Given the description of an element on the screen output the (x, y) to click on. 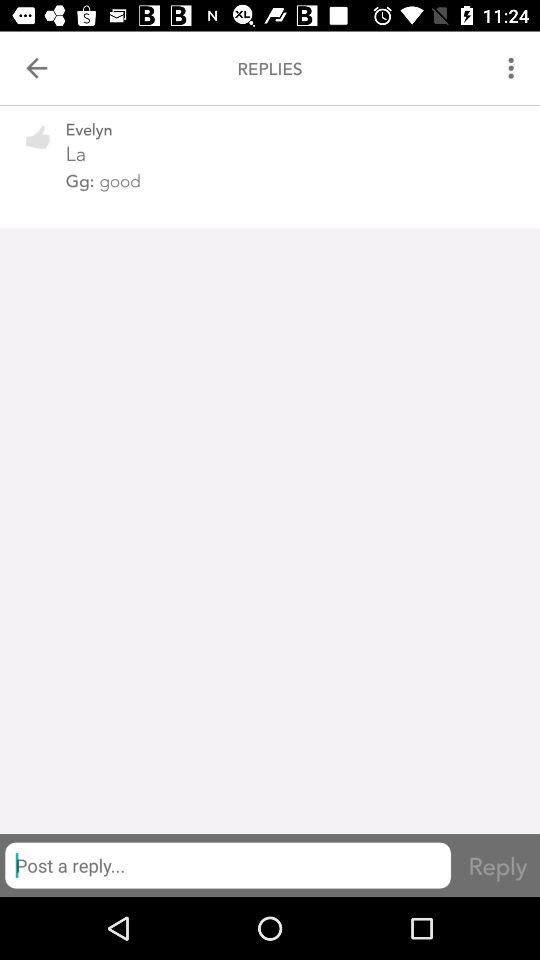
turn on item to the right of replies (513, 67)
